Given the description of an element on the screen output the (x, y) to click on. 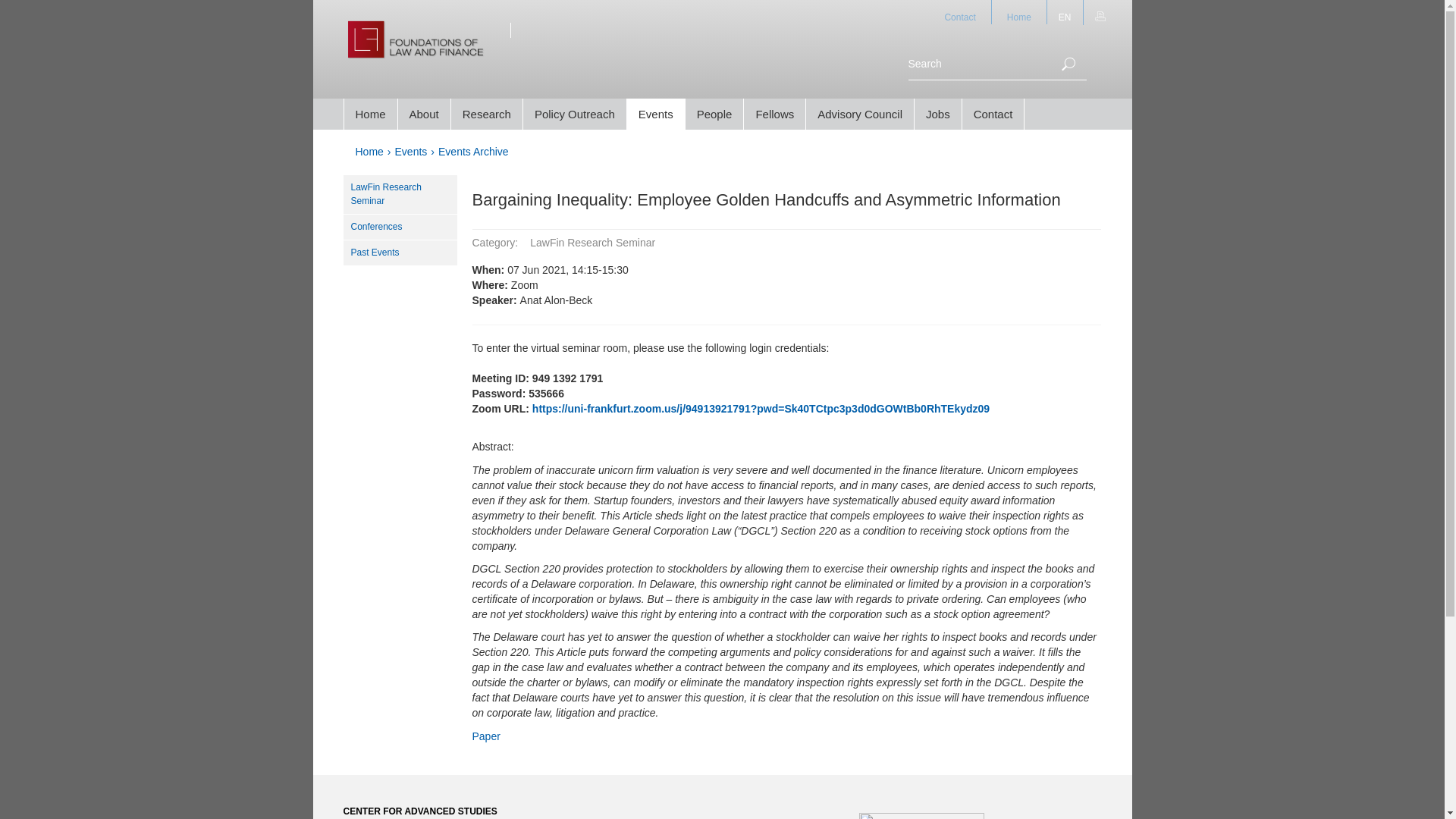
Events (411, 151)
Events (655, 113)
Events (411, 151)
Home (370, 113)
Fellows (774, 113)
Contact (959, 12)
Jobs (937, 113)
Past Events (399, 253)
Advisory Council (860, 113)
Home (1018, 12)
